Given the description of an element on the screen output the (x, y) to click on. 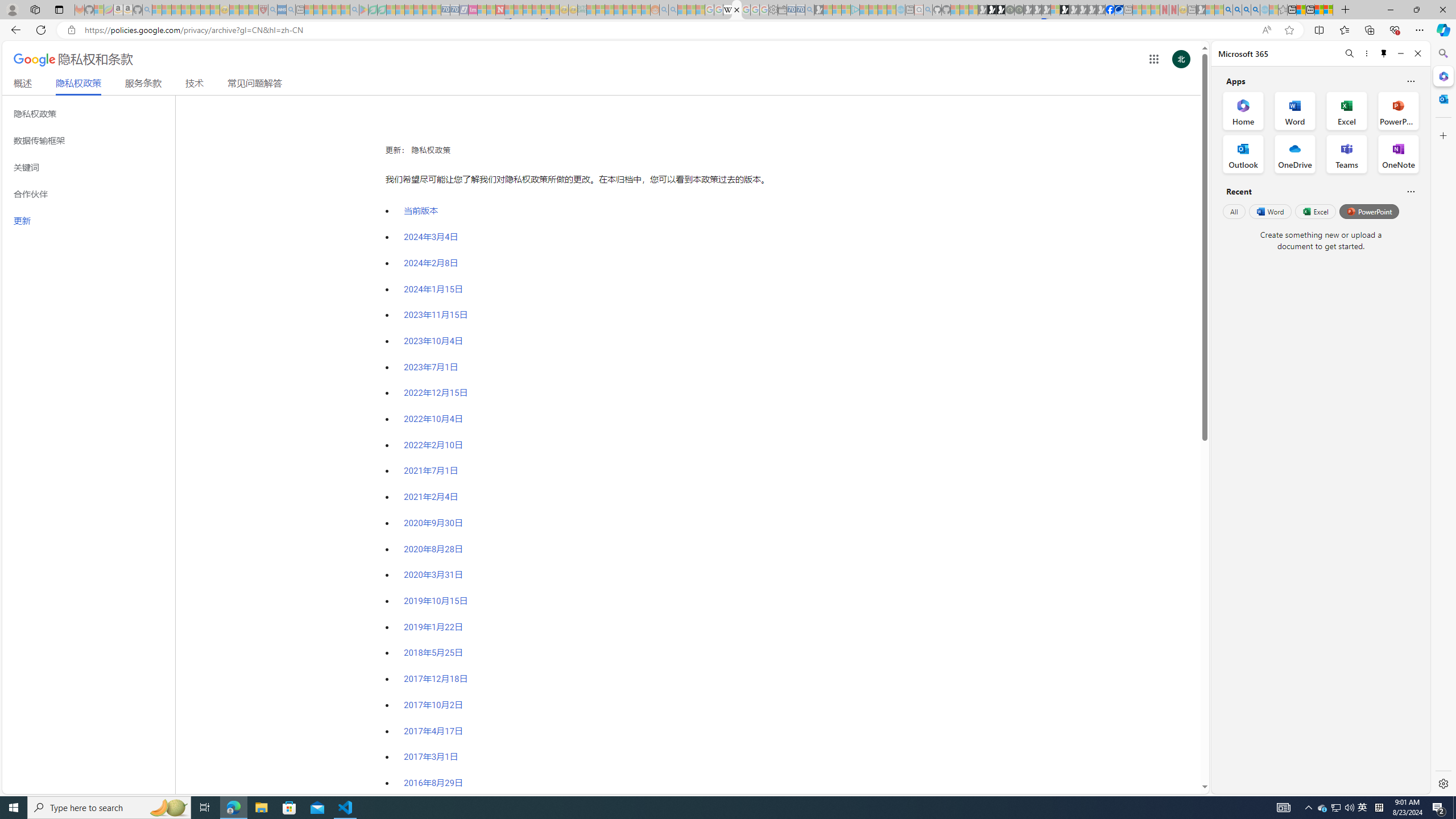
2009 Bing officially replaced Live Search on June 3 - Search (1236, 9)
Aberdeen, Hong Kong SAR weather forecast | Microsoft Weather (1300, 9)
Close Microsoft 365 pane (1442, 76)
Teams Office App (1346, 154)
Expert Portfolios - Sleeping (617, 9)
